Given the description of an element on the screen output the (x, y) to click on. 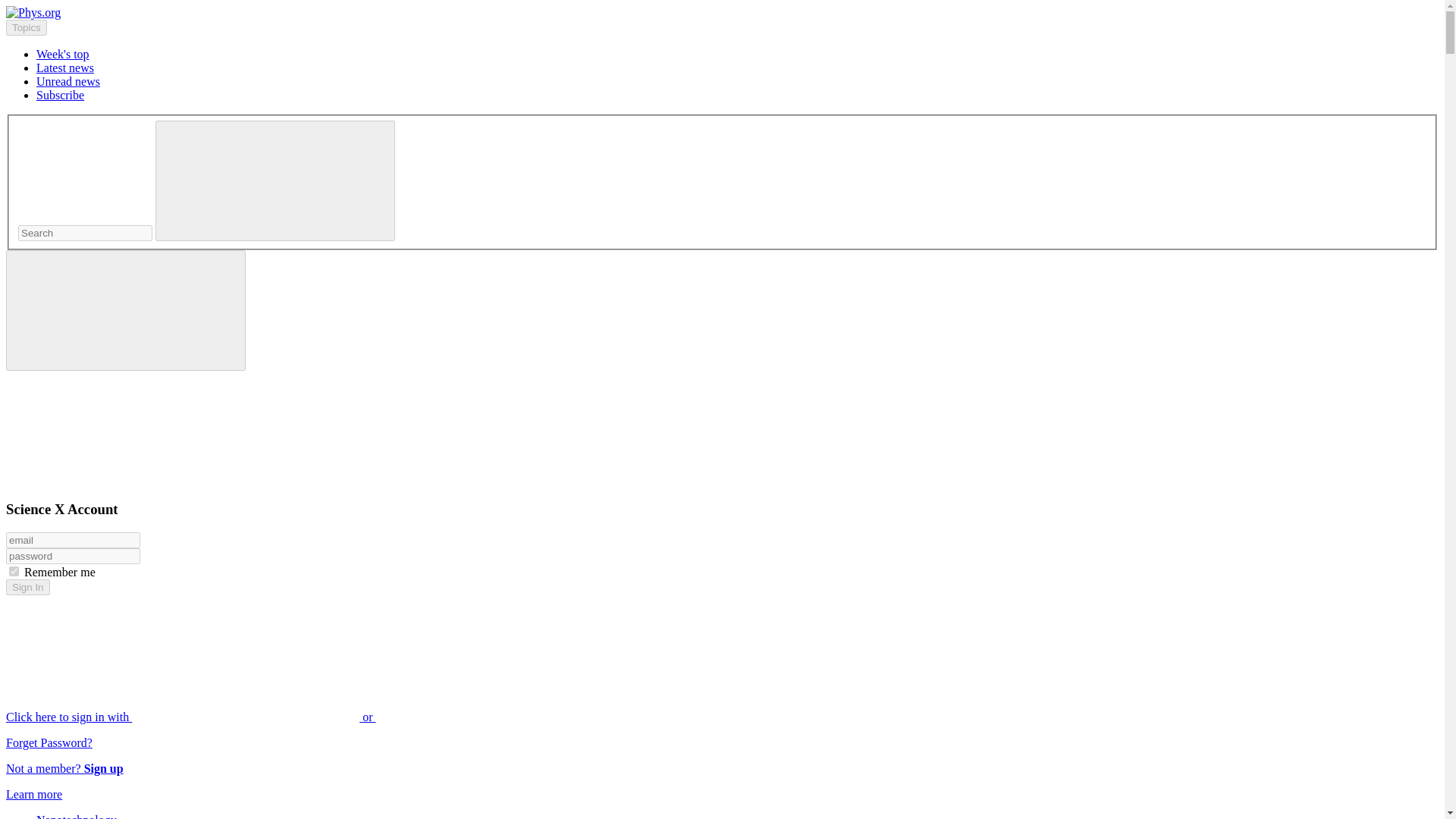
Nanotechnology (76, 816)
Sign In (27, 587)
Latest news (65, 67)
Learn more (33, 793)
Not a member? Sign up (64, 768)
Week's top (62, 53)
Click here to sign in with or (304, 716)
Unread news (68, 81)
Forget Password? (49, 742)
Subscribe (60, 94)
